Given the description of an element on the screen output the (x, y) to click on. 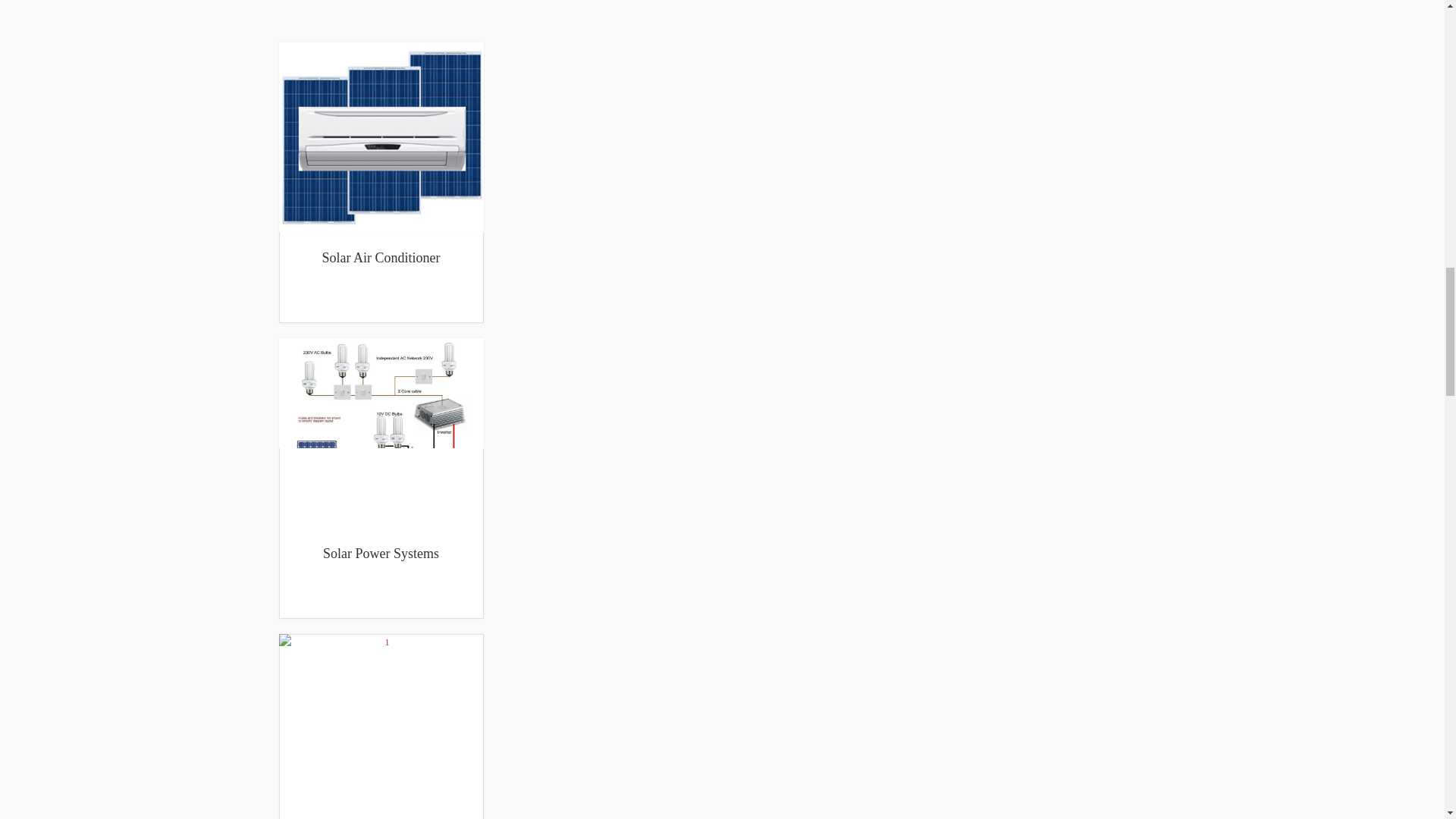
1 (381, 726)
1 (381, 136)
1 (381, 432)
